Given the description of an element on the screen output the (x, y) to click on. 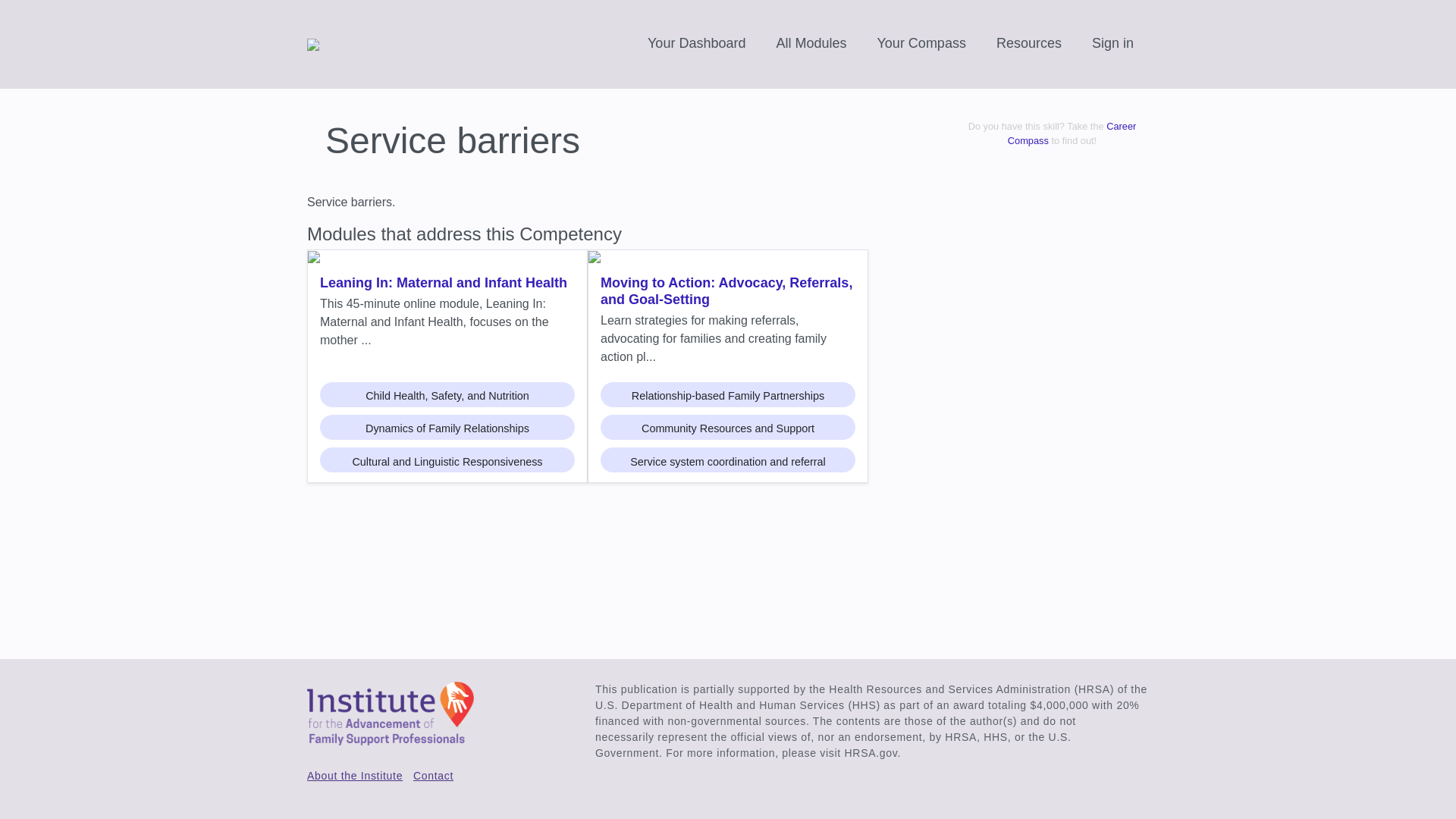
Your Compass (920, 44)
About the Institute (355, 775)
Career Compass (1072, 133)
Sign in (1113, 44)
Leaning In: Maternal and Infant Health (446, 284)
Child Health, Safety, and Nutrition (447, 394)
Moving to Action: Advocacy, Referrals, and Goal-Setting (727, 293)
Community Resources and Support (727, 426)
All Modules (810, 44)
Relationship-based Family Partnerships (727, 394)
